Given the description of an element on the screen output the (x, y) to click on. 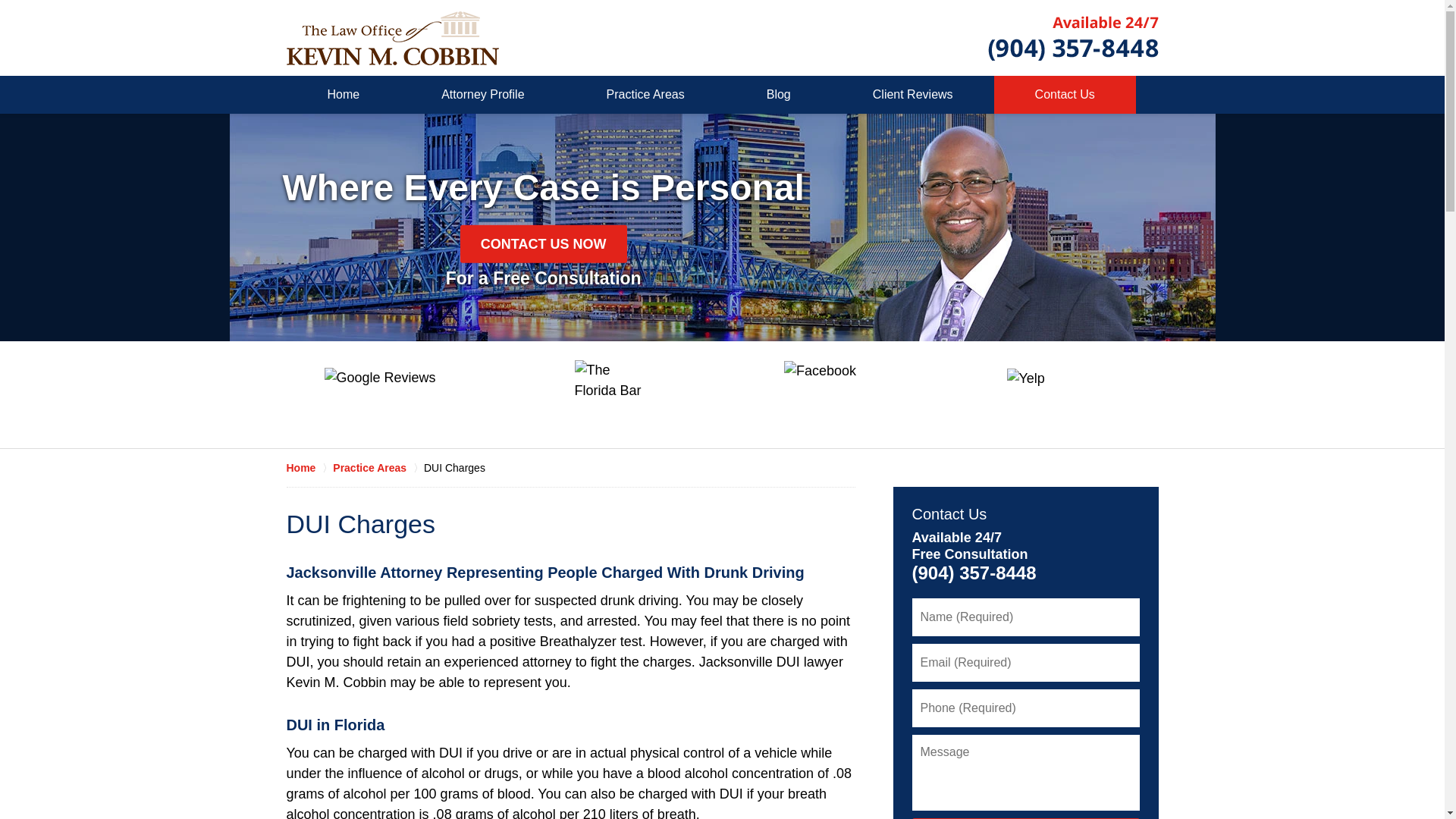
The Law Office of Kevin M. Cobbin Home (392, 37)
Practice Areas (378, 467)
Home (309, 467)
Contact The Law Office of Kevin M. Cobbin (1072, 37)
CONTACT US NOW (543, 243)
Back to Home (392, 37)
Practice Areas (645, 94)
Attorney Profile (482, 94)
Contact Us (949, 514)
